Given the description of an element on the screen output the (x, y) to click on. 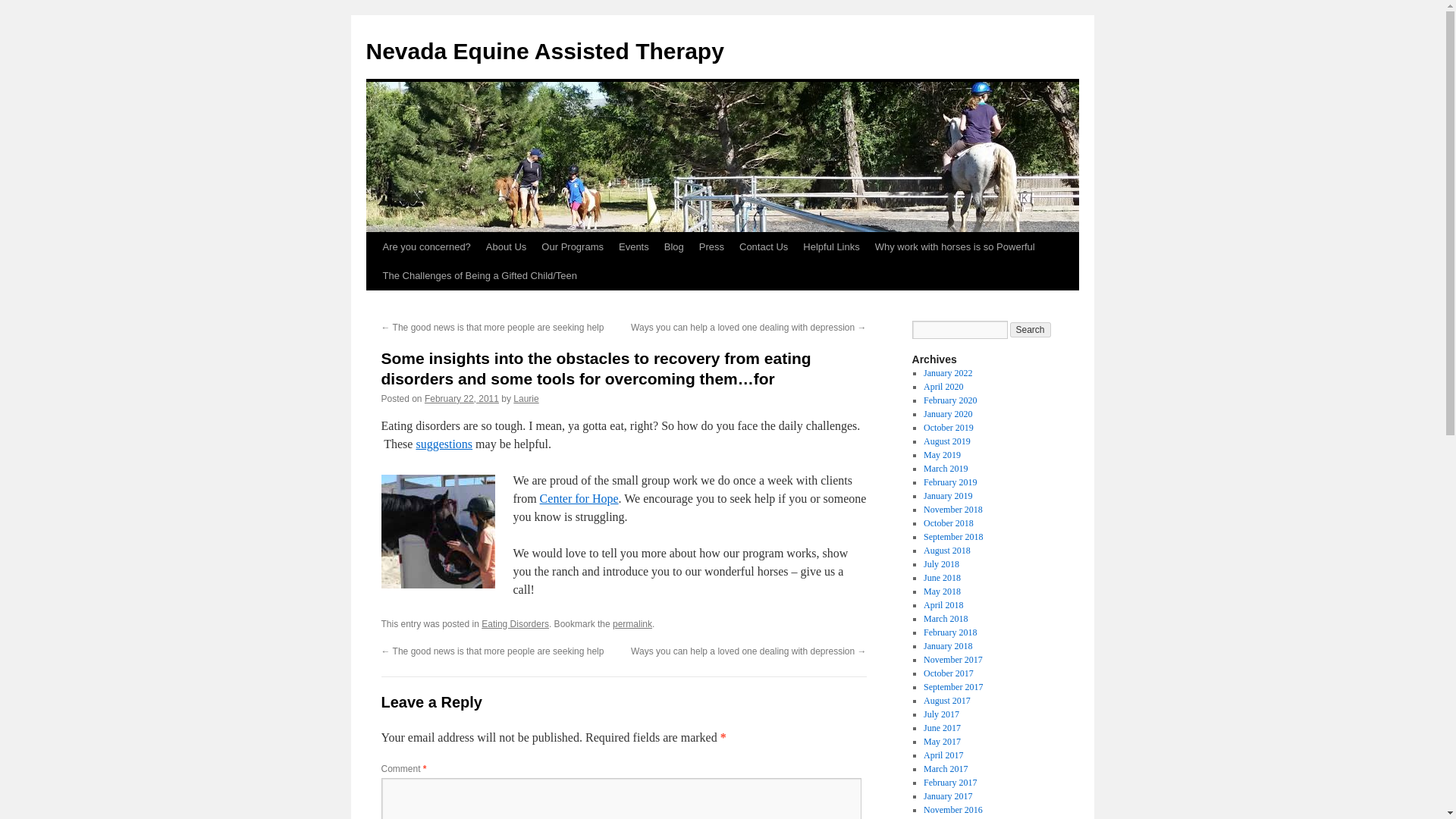
Center for Hope (579, 498)
April 2020 (942, 386)
About Us (506, 246)
Events (633, 246)
Laurie (525, 398)
Eating Disorders (514, 624)
Contact Us (763, 246)
Why work with horses is so Powerful (954, 246)
11:21 pm (462, 398)
Baxter the gentle giant crop (437, 531)
View all posts by Laurie (525, 398)
Search (1030, 329)
February 22, 2011 (462, 398)
Blog (673, 246)
Our Programs (572, 246)
